Given the description of an element on the screen output the (x, y) to click on. 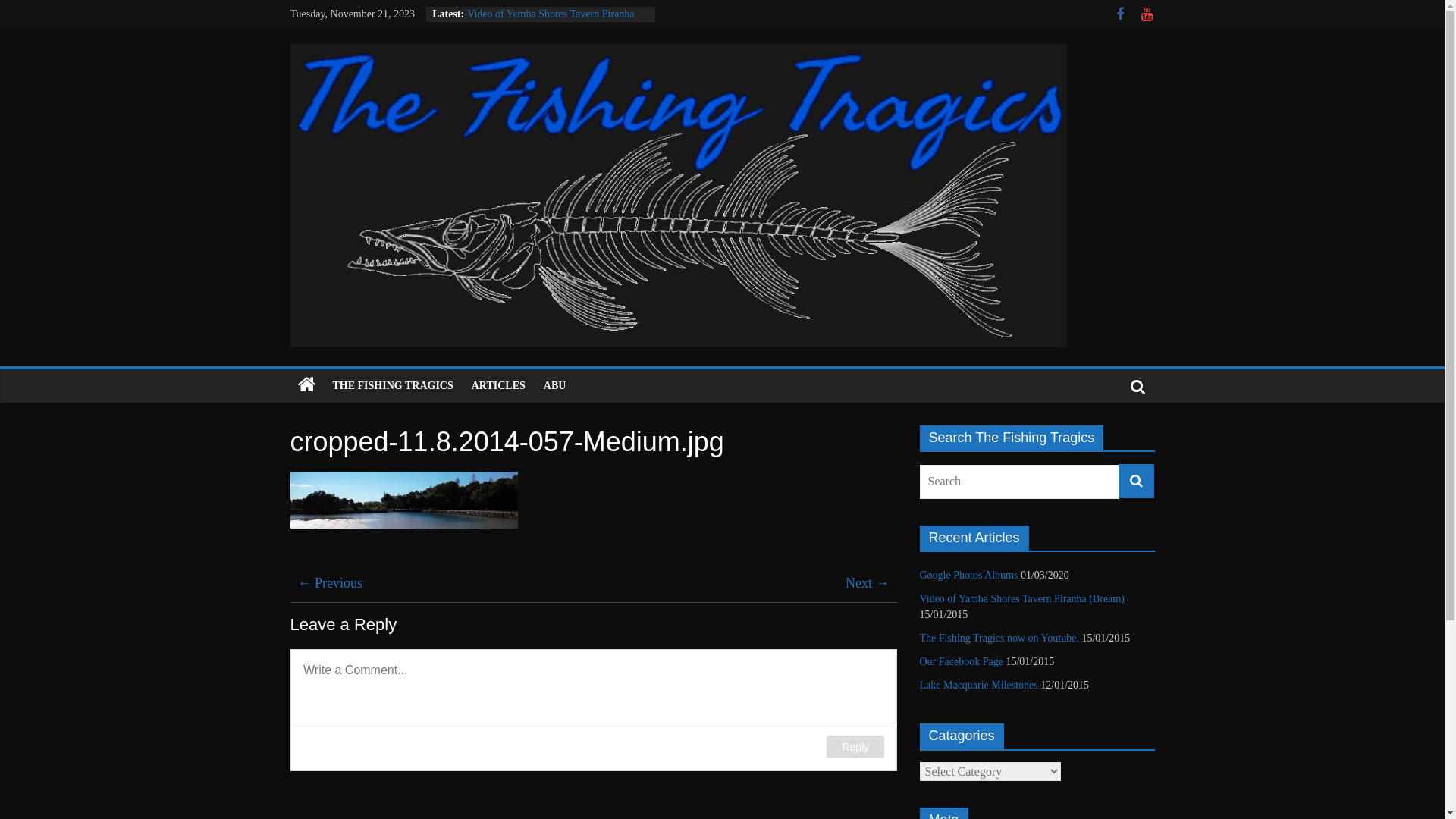
The Fishing Tragics Element type: hover (306, 385)
The Fishing Tragics now on Youtube. Element type: text (998, 637)
Our Facebook Page Element type: text (960, 661)
Comment Form Element type: hover (592, 710)
THE FISHING TRAGICS Element type: text (392, 385)
ARTICLES Element type: text (498, 385)
Video of Yamba Shores Tavern Piranha (Bream) Element type: text (550, 21)
Google Photos Albums Element type: text (968, 574)
ABU Element type: text (554, 385)
Lake Macquarie Milestones Element type: text (978, 684)
Video of Yamba Shores Tavern Piranha (Bream) Element type: text (1021, 598)
